Given the description of an element on the screen output the (x, y) to click on. 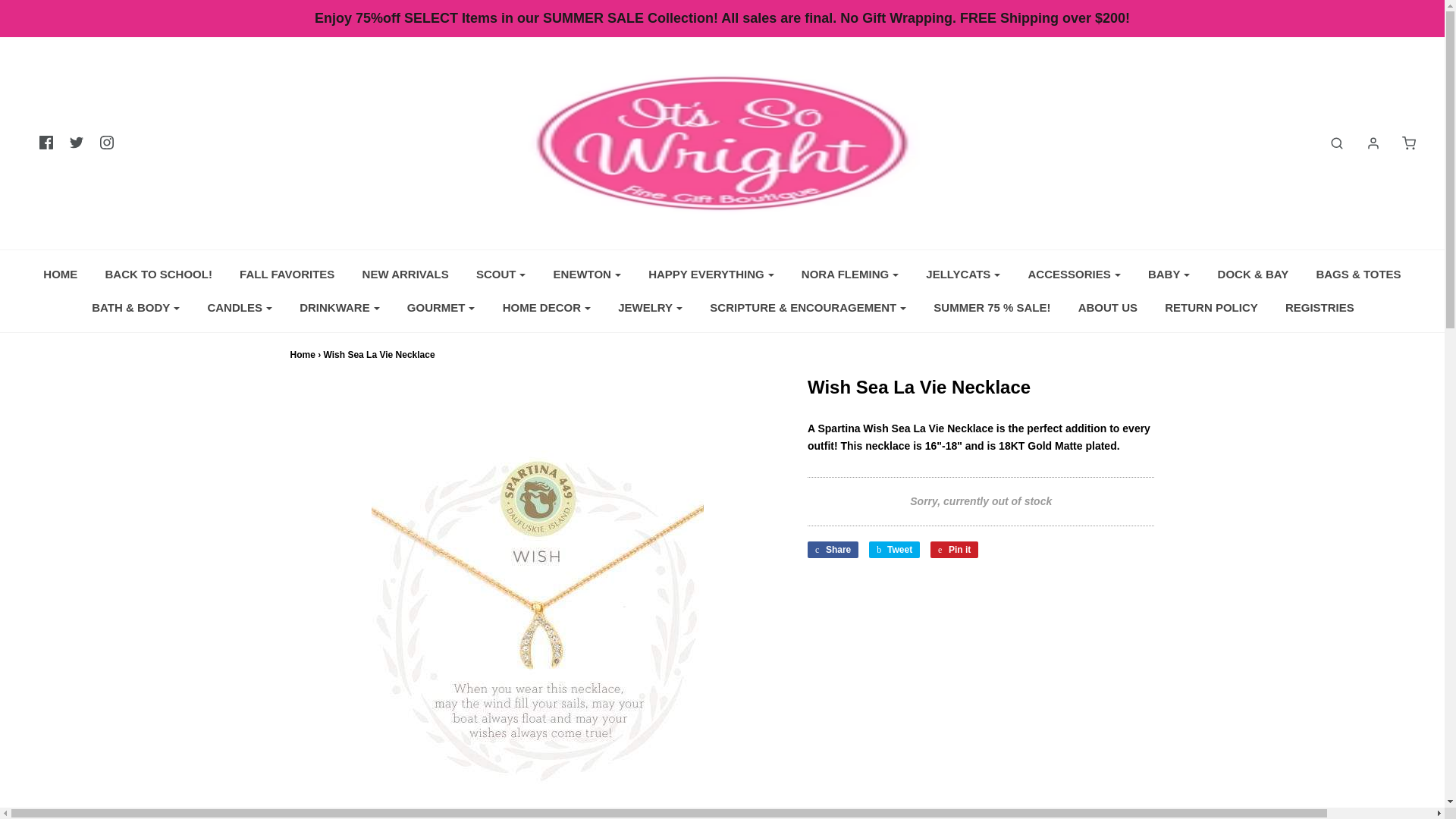
ENEWTON (586, 274)
Search (1329, 142)
Back to the frontpage (301, 354)
Instagram icon (107, 142)
HOME (60, 274)
Twitter icon (76, 142)
Instagram icon (107, 142)
Twitter icon (76, 142)
NORA FLEMING (850, 274)
SCOUT (500, 274)
